Given the description of an element on the screen output the (x, y) to click on. 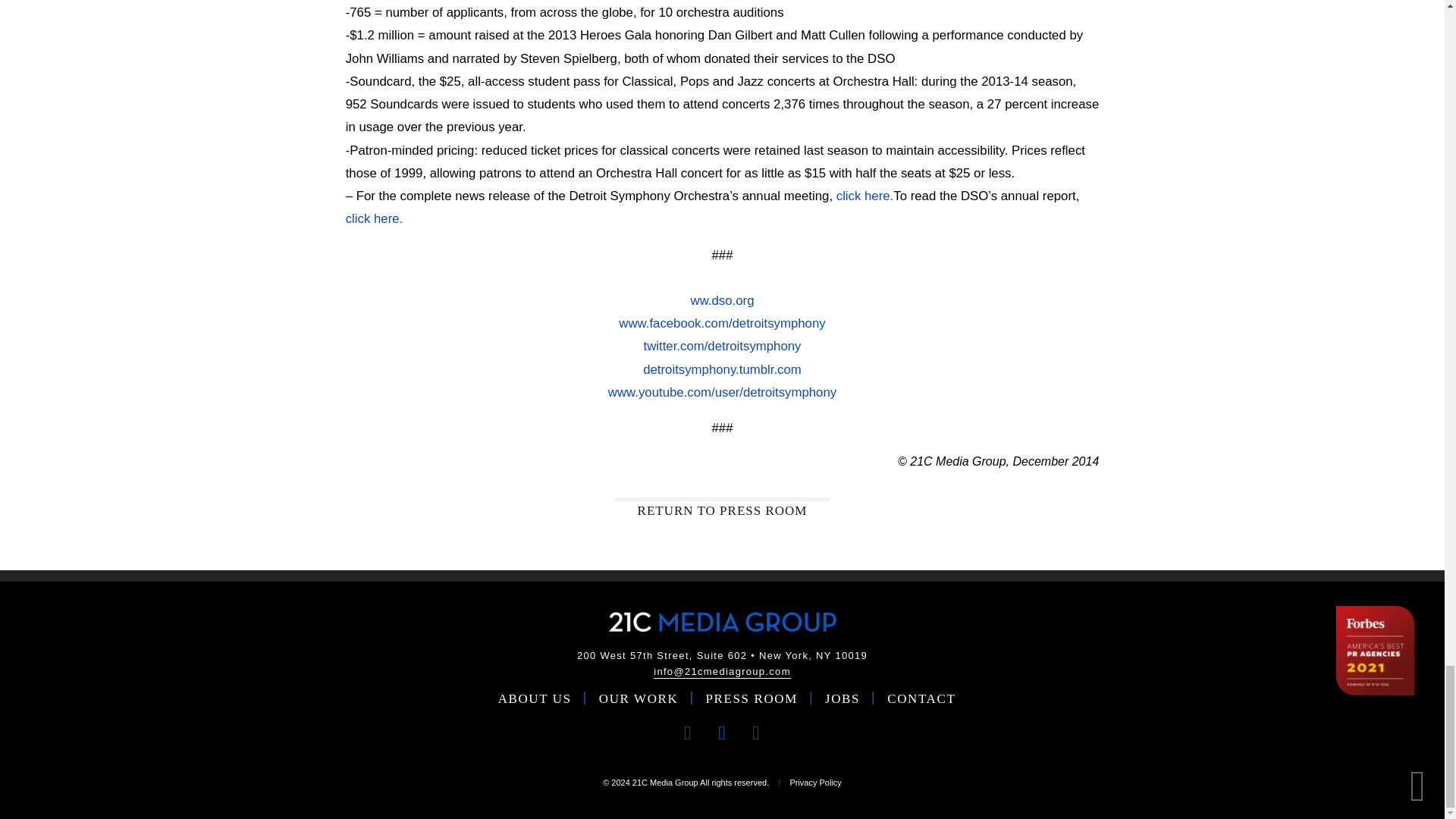
PRESS ROOM (751, 699)
RETURN TO PRESS ROOM (721, 508)
detroitsymphony.tumblr.com (722, 369)
click here. (864, 196)
JOBS (842, 699)
click here. (374, 218)
ww.dso.org (722, 311)
CONTACT (920, 699)
ABOUT US (534, 699)
OUR WORK (638, 699)
Privacy Policy (815, 782)
